Given the description of an element on the screen output the (x, y) to click on. 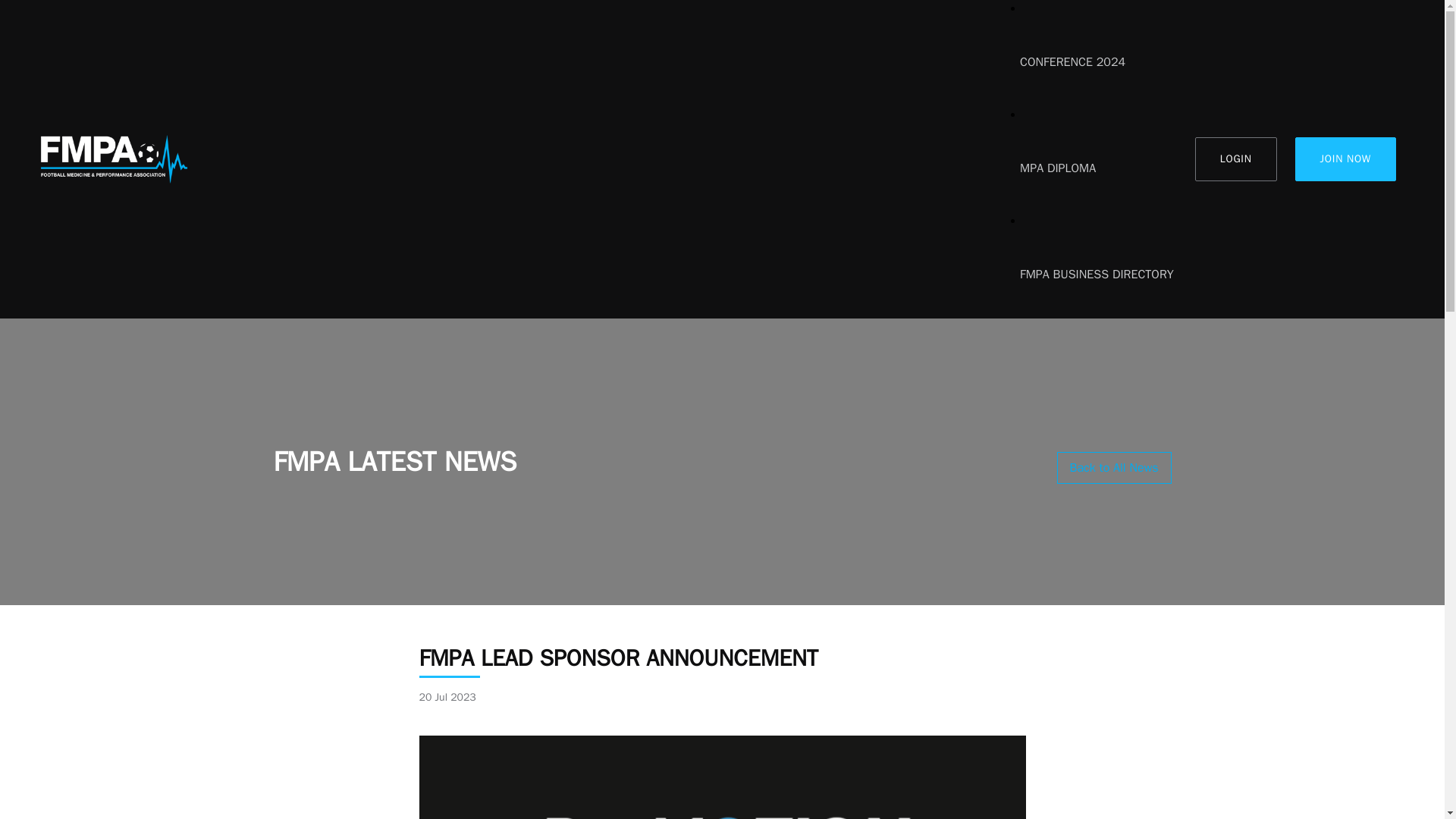
JOIN NOW (1345, 158)
FMPA BUSINESS DIRECTORY (1096, 274)
Back to All News (1114, 468)
LOGIN (1235, 158)
CONFERENCE 2024 (1096, 62)
MPA DIPLOMA (1096, 168)
